Given the description of an element on the screen output the (x, y) to click on. 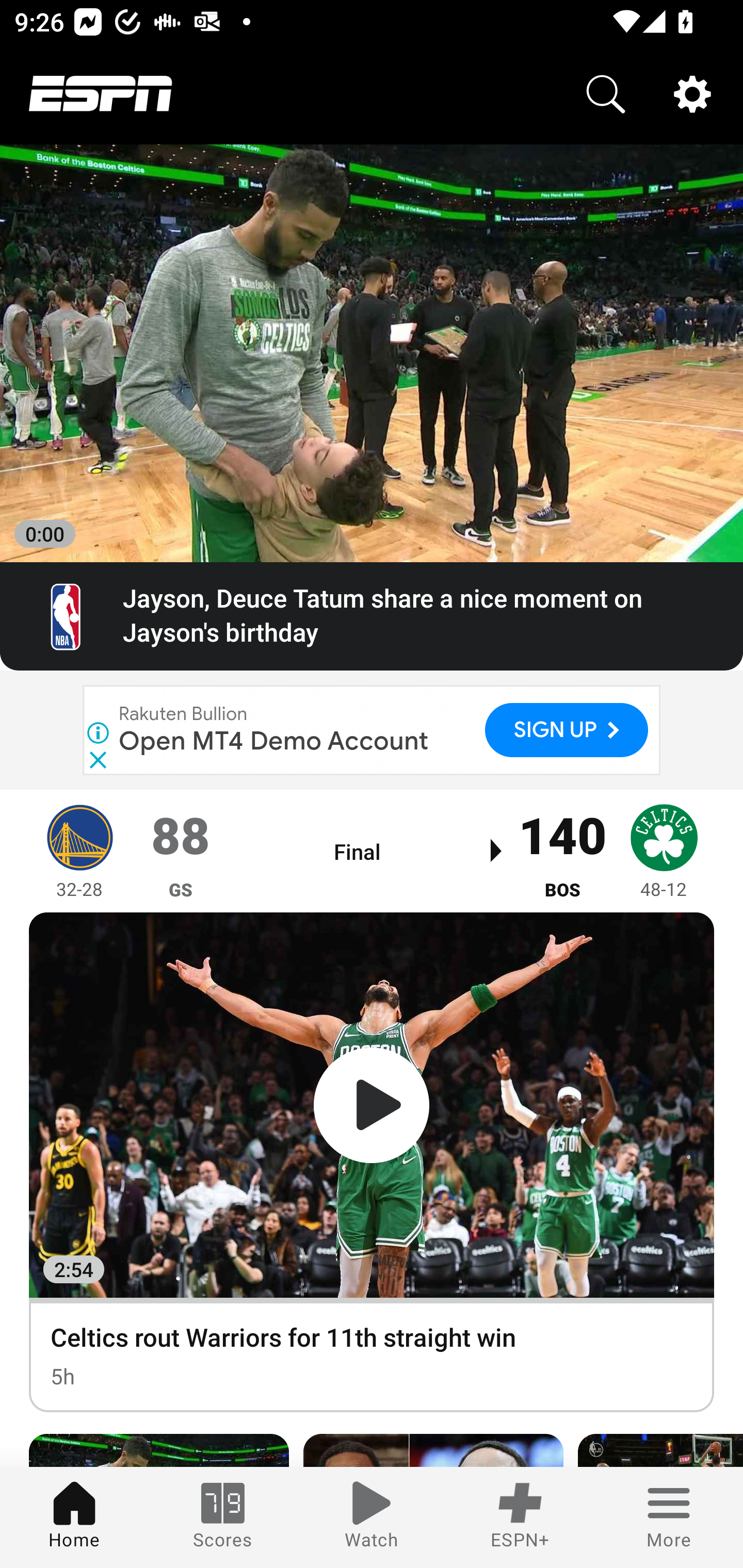
Search (605, 93)
Settings (692, 93)
Rakuten Bullion (183, 713)
SIGN UP (566, 729)
Open MT4 Demo Account (274, 740)
Scores (222, 1517)
Watch (371, 1517)
ESPN+ (519, 1517)
More (668, 1517)
